Given the description of an element on the screen output the (x, y) to click on. 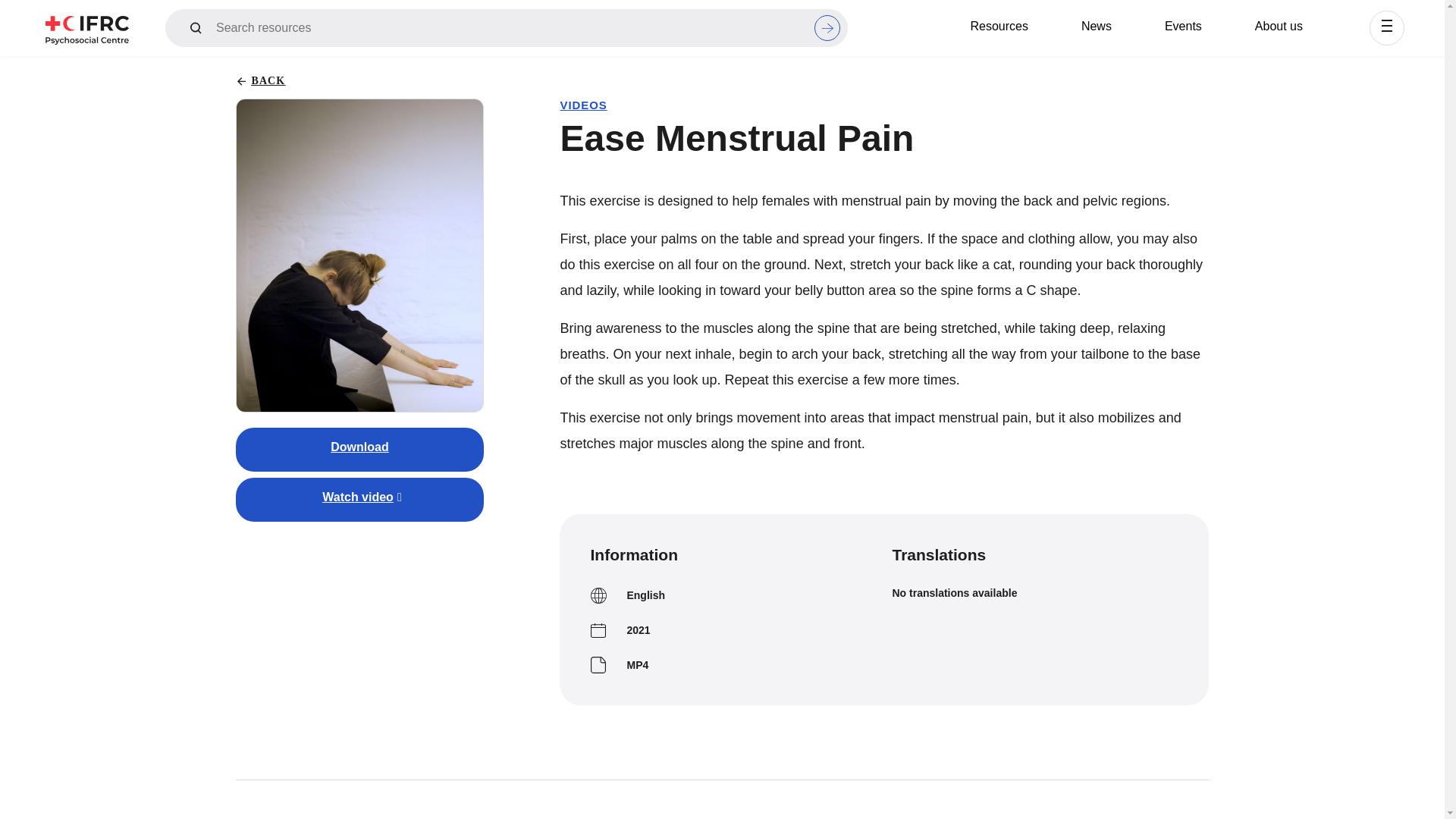
Events (1182, 26)
Videos (257, 66)
Podcasts (263, 66)
About us (1277, 26)
Resources (998, 26)
News (1096, 26)
All resources (271, 66)
Latest news (489, 66)
Calendar view (714, 66)
Upcoming events (721, 66)
